Given the description of an element on the screen output the (x, y) to click on. 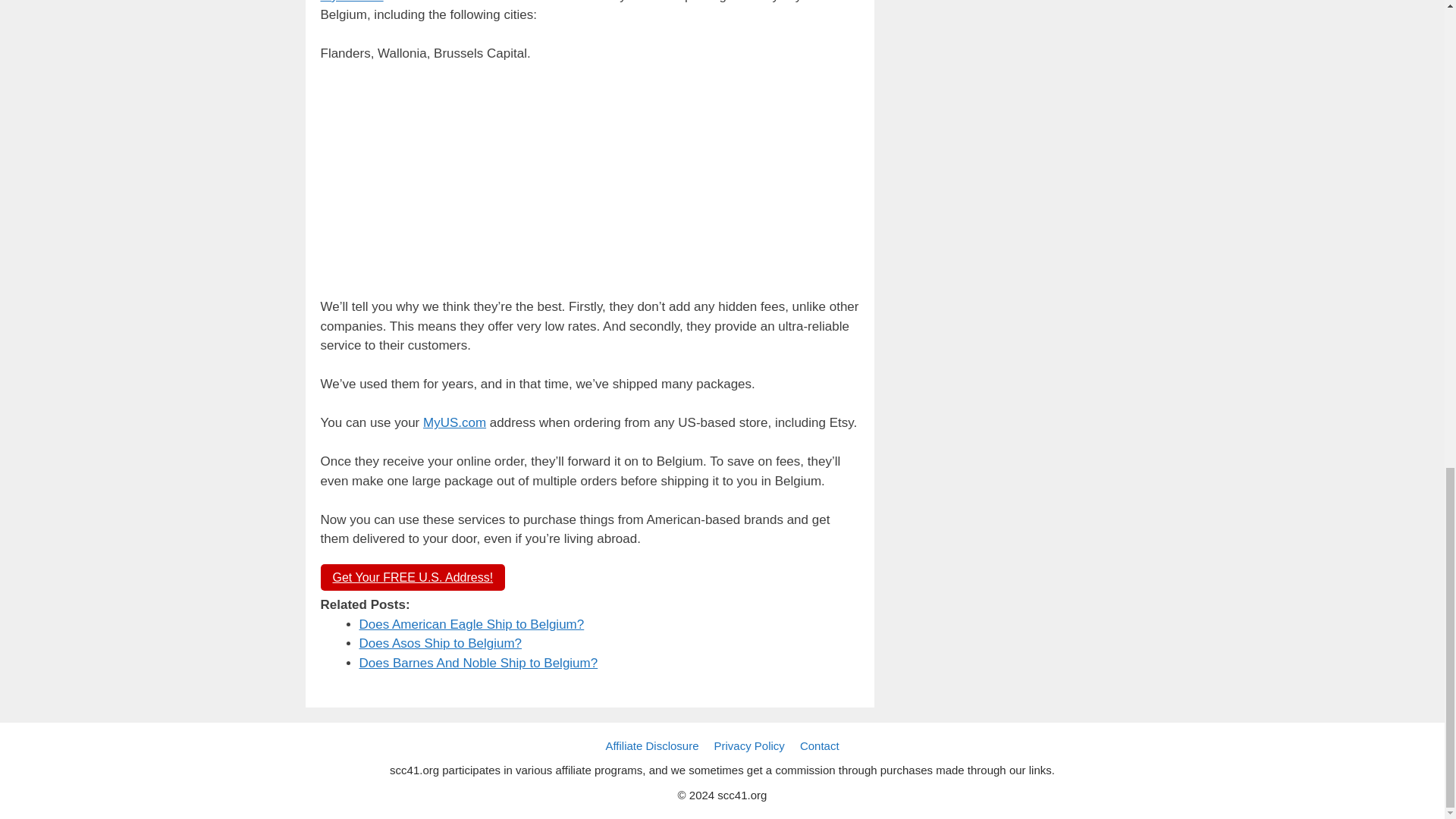
MyUS.com (454, 422)
Privacy Policy (749, 745)
Contact (819, 745)
Get Your FREE U.S. Address! (412, 577)
Affiliate Disclosure (651, 745)
MyUS.com (351, 1)
Does American Eagle Ship to Belgium? (472, 624)
Does Barnes And Noble Ship to Belgium? (478, 663)
Does Asos Ship to Belgium? (440, 643)
